Given the description of an element on the screen output the (x, y) to click on. 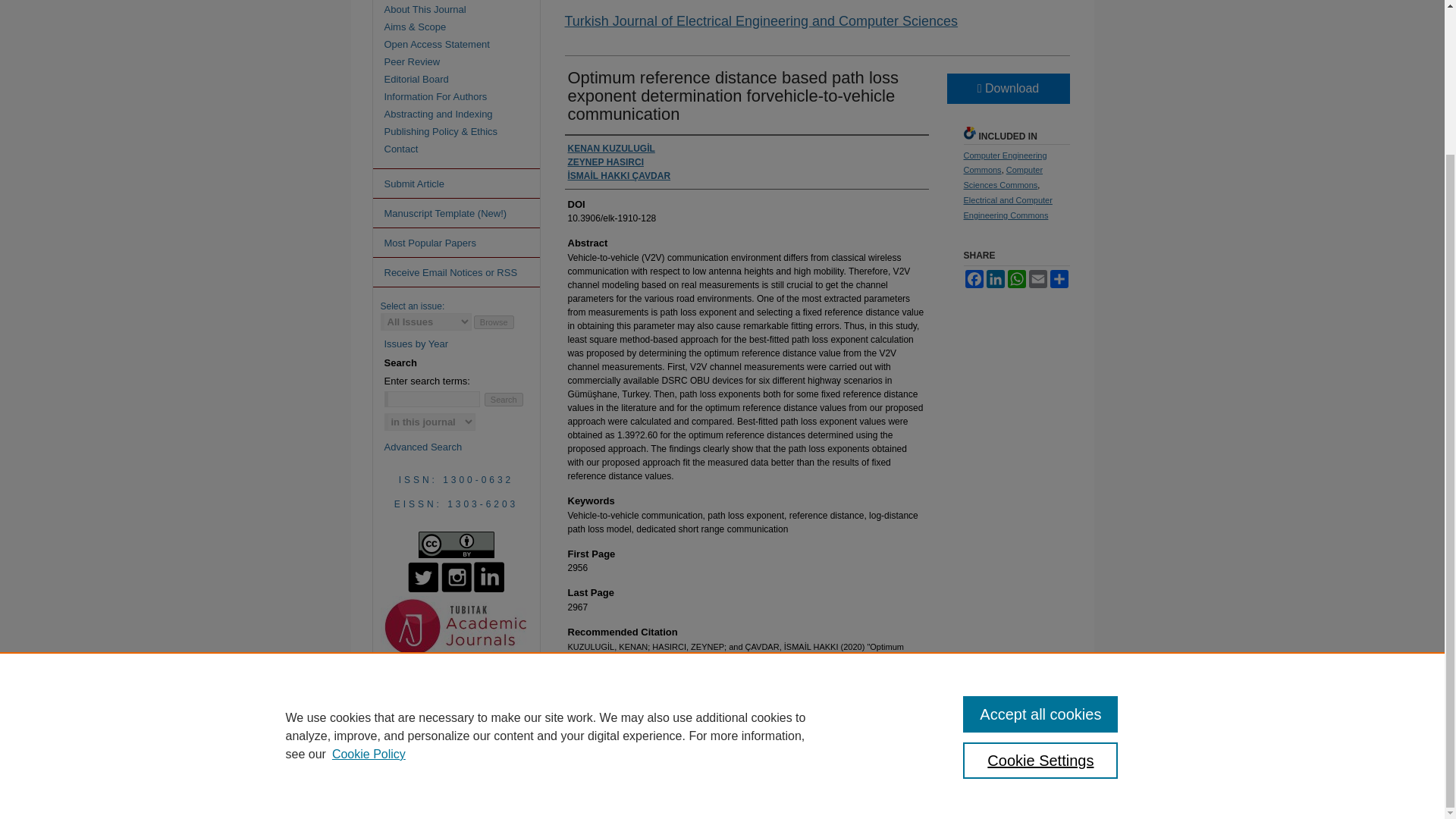
LinkedIn (995, 279)
About This Journal (469, 9)
Peer Review (469, 61)
Open Access Statement (469, 43)
Download (1007, 88)
Email (1037, 279)
Editorial Board (469, 79)
Electrical and Computer Engineering Commons (1006, 207)
ZEYNEP HASIRCI (605, 161)
Browse (493, 322)
Computer Engineering Commons (1004, 162)
Computer Engineering Commons (1004, 162)
Share (1058, 279)
